Given the description of an element on the screen output the (x, y) to click on. 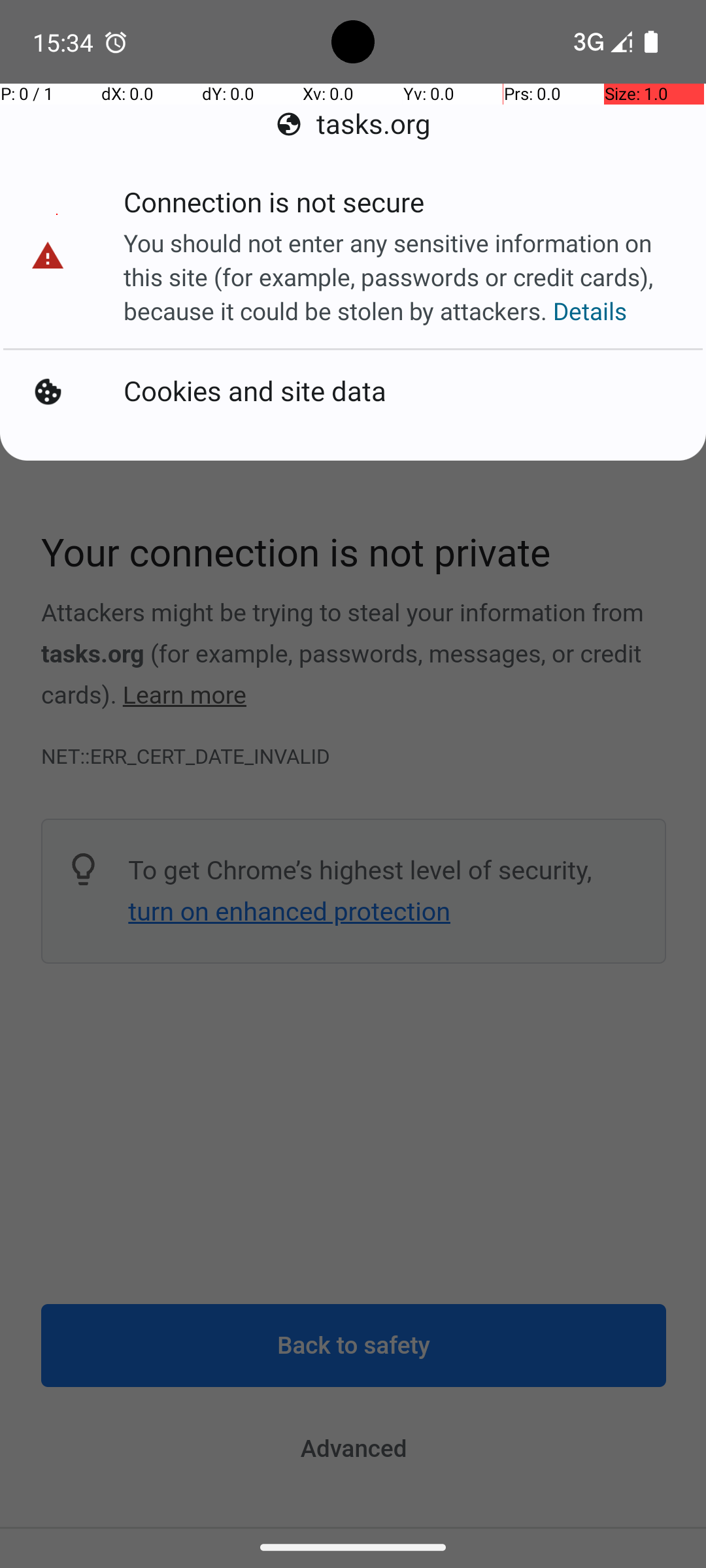
tasks.org Element type: android.widget.TextView (352, 124)
